Given the description of an element on the screen output the (x, y) to click on. 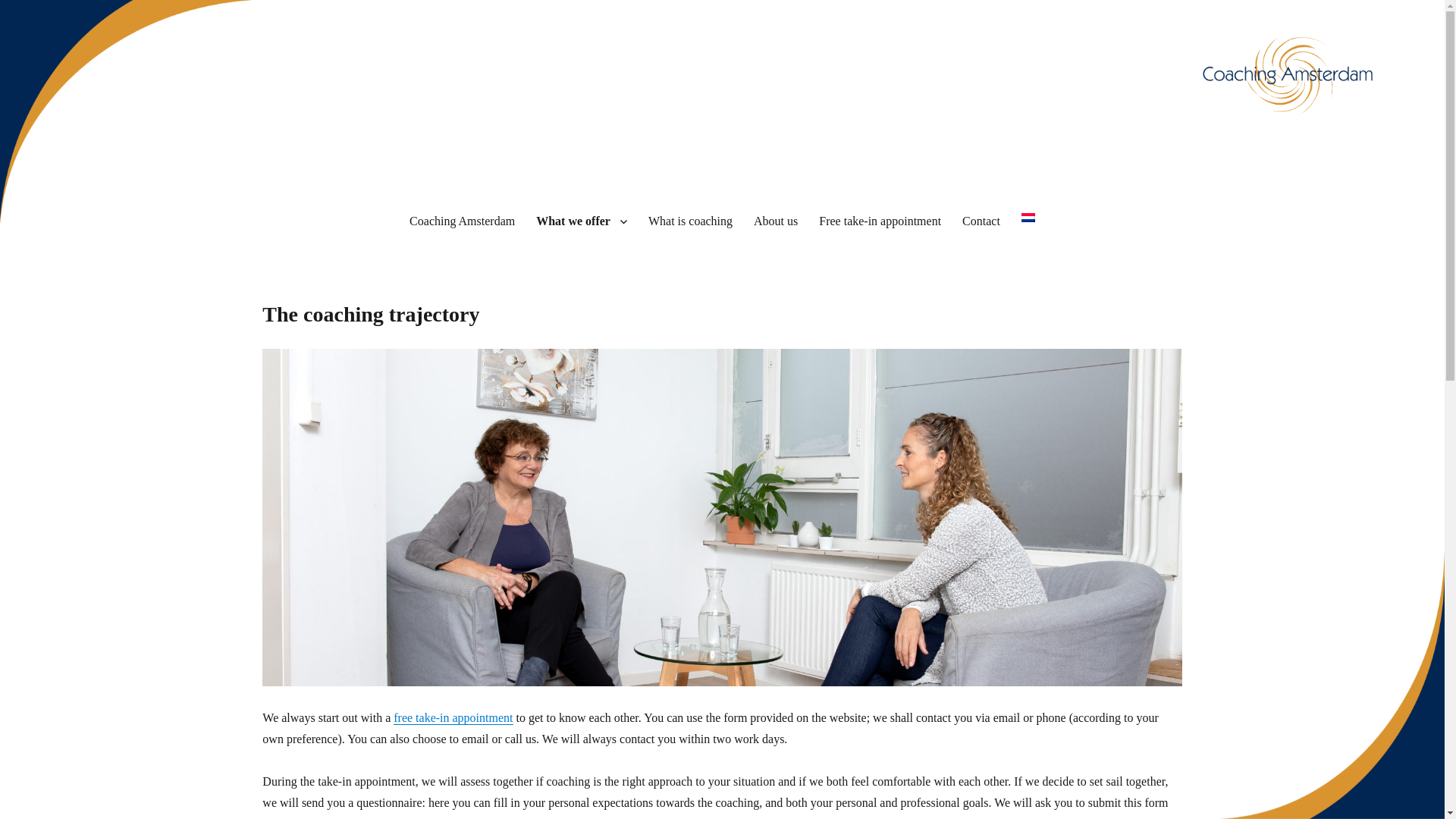
About us (775, 221)
Coaching Amsterdam (174, 155)
Contact (981, 221)
free take-in appointment (452, 717)
Coaching Amsterdam (461, 221)
What we offer (581, 221)
What is coaching (689, 221)
Free take-in appointment (880, 221)
